Given the description of an element on the screen output the (x, y) to click on. 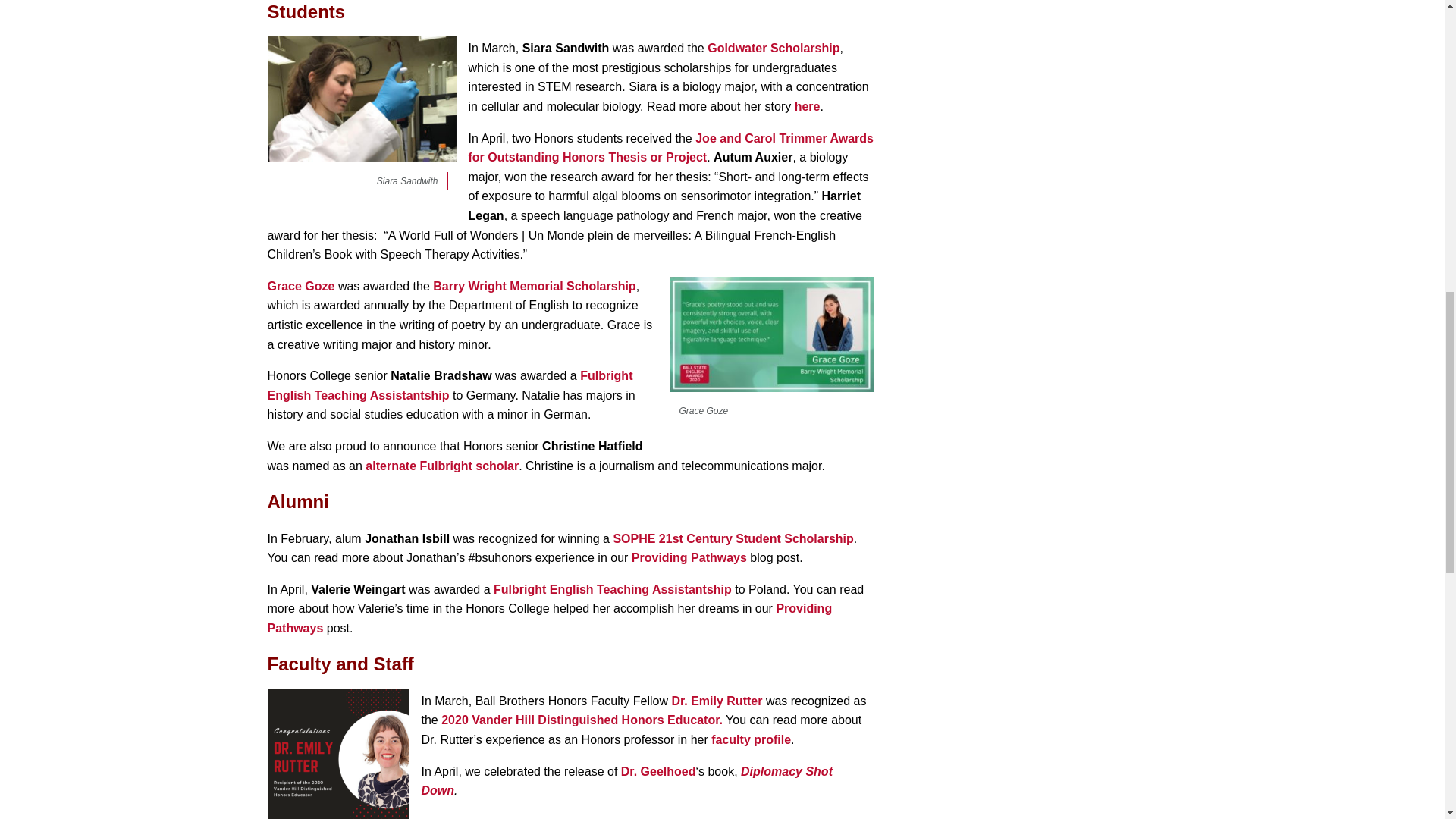
Diplomacy Shot Down (627, 780)
Dr. Geelhoed (658, 771)
Grace Goze (300, 286)
Goldwater Scholarship (773, 47)
here (807, 106)
faculty profile (750, 739)
2020 Vander Hill Distinguished Honors Educator. (581, 719)
Providing Pathways (548, 617)
Barry Wright Memorial Scholarship (533, 286)
alternate Fulbright scholar (441, 465)
